Given the description of an element on the screen output the (x, y) to click on. 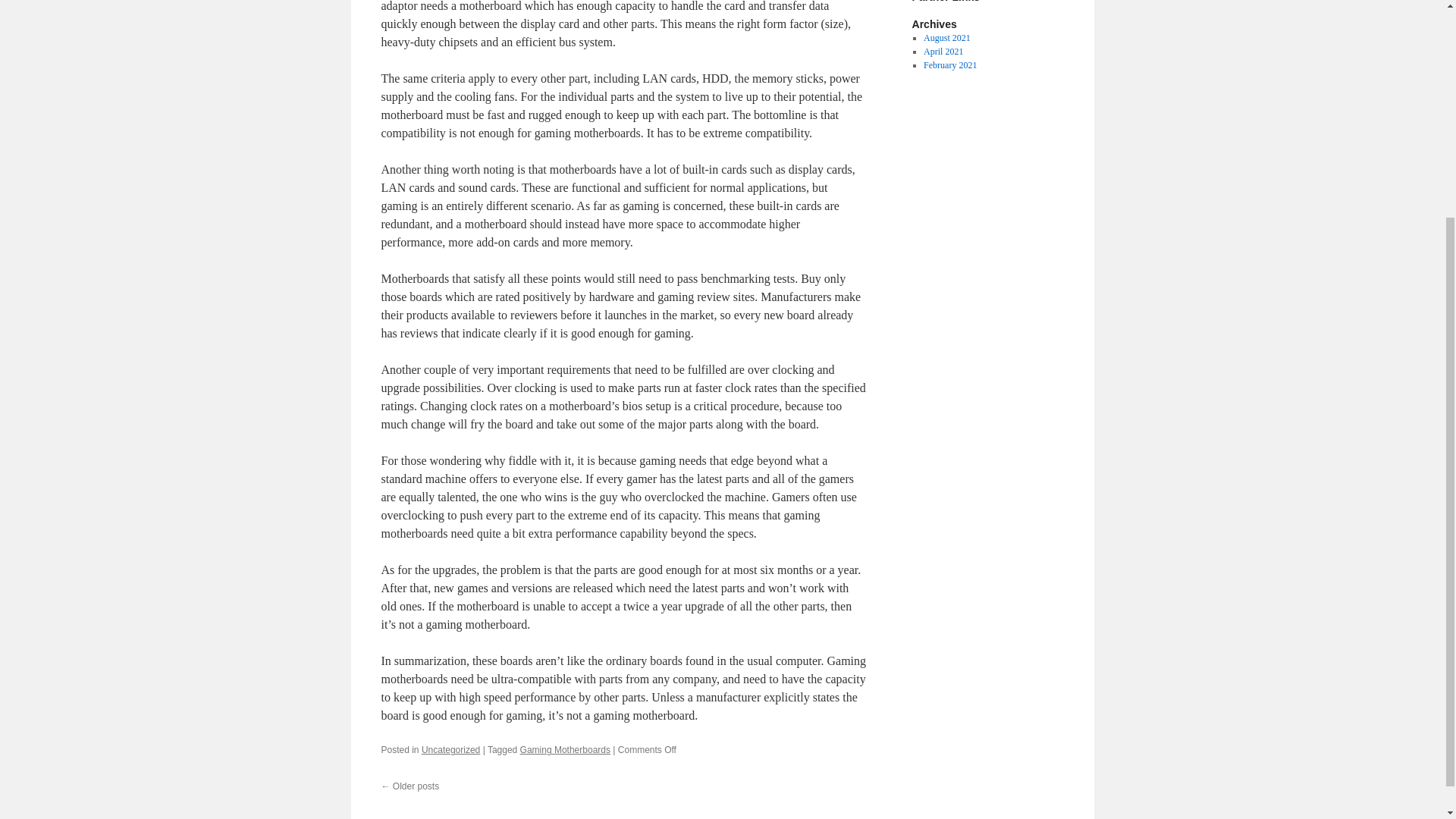
February 2021 (949, 64)
Gaming Motherboards (564, 749)
April 2021 (942, 50)
View all posts in Uncategorized (451, 749)
Uncategorized (451, 749)
August 2021 (947, 37)
